Given the description of an element on the screen output the (x, y) to click on. 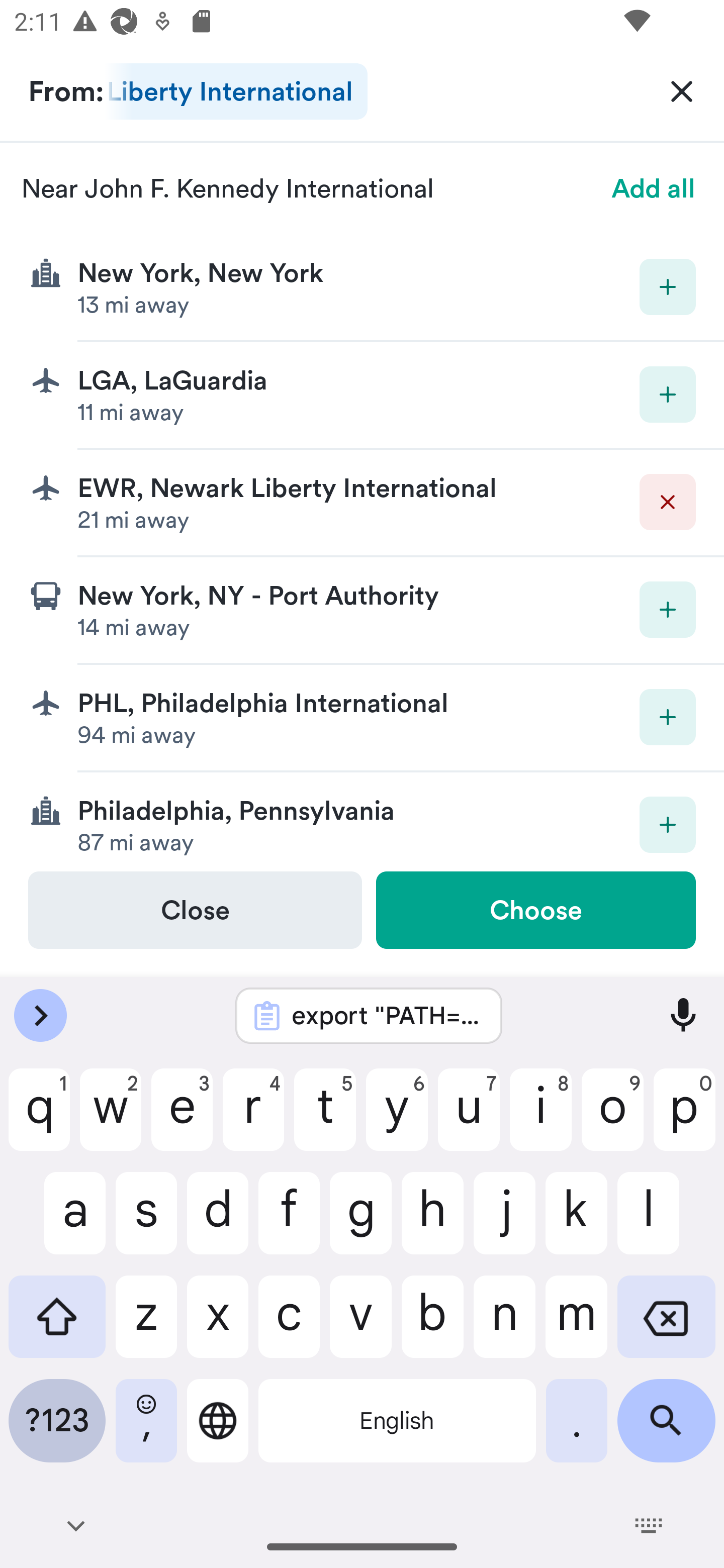
Clear All (681, 90)
Newark Liberty International (235, 91)
Add all (653, 187)
Add destination New York, New York 13 mi away (362, 287)
Add destination (667, 286)
Add destination LGA, LaGuardia 11 mi away (362, 395)
Add destination (667, 394)
Delete (667, 501)
Add destination (667, 609)
Add destination (667, 716)
Add destination (667, 824)
Close (195, 909)
Choose (535, 909)
